Given the description of an element on the screen output the (x, y) to click on. 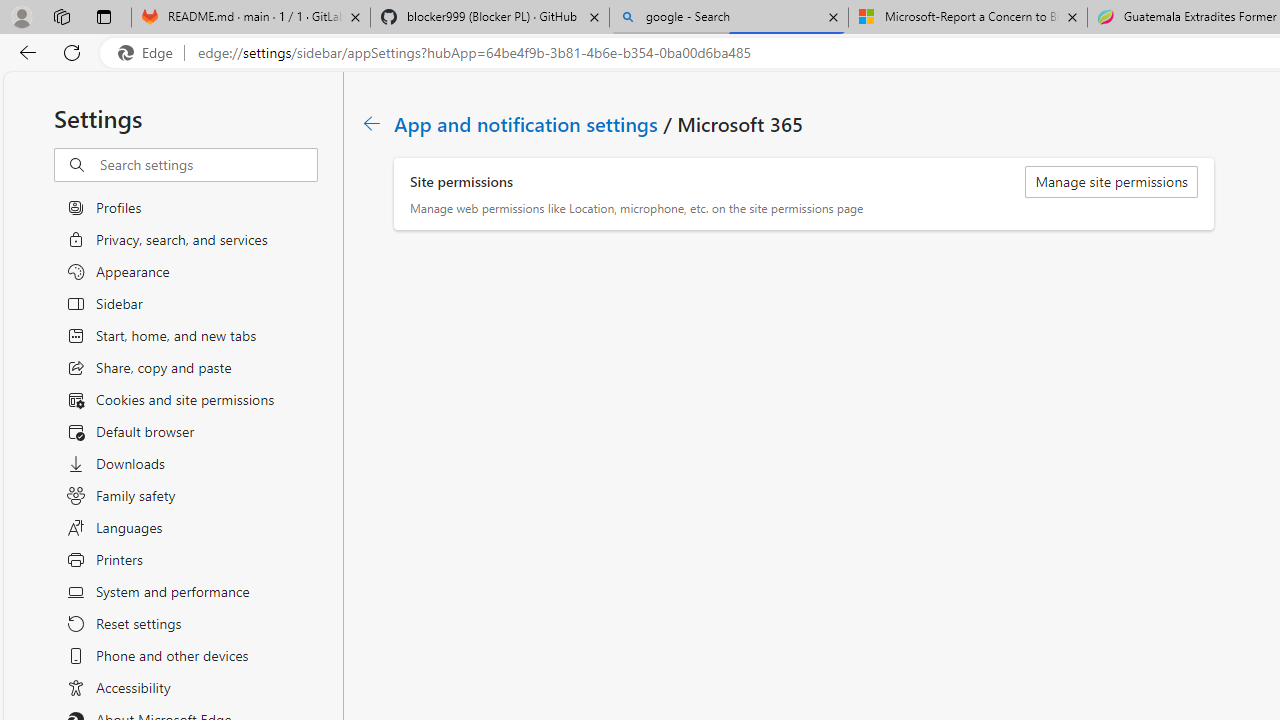
Edge (150, 53)
Manage site permissions (1111, 182)
Microsoft-Report a Concern to Bing (967, 17)
Go back to App and notification settings page. (372, 123)
App and notification settings (527, 123)
Class: c01182 (371, 123)
google - Search (729, 17)
